Given the description of an element on the screen output the (x, y) to click on. 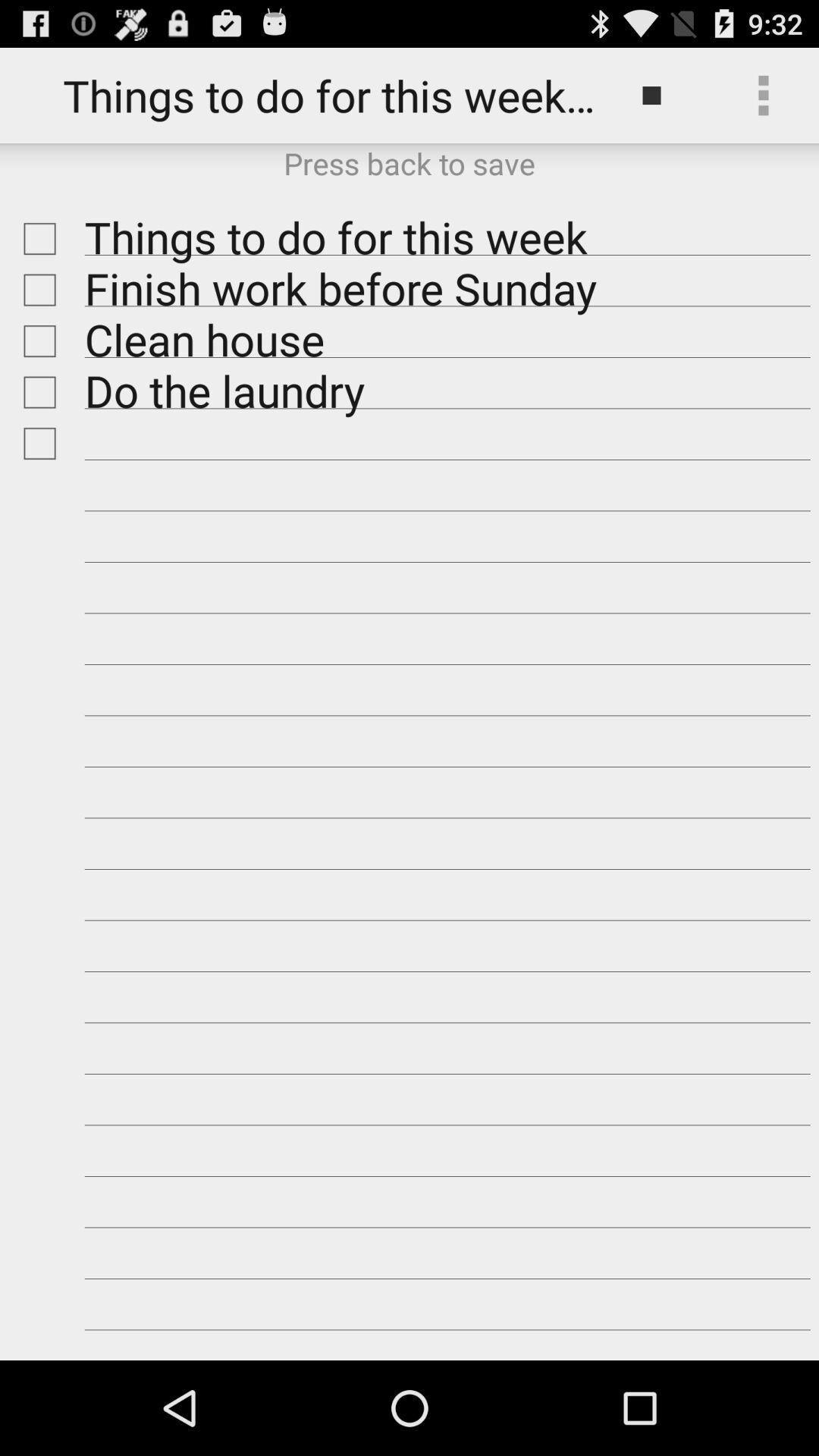
toggle reminder (35, 443)
